Given the description of an element on the screen output the (x, y) to click on. 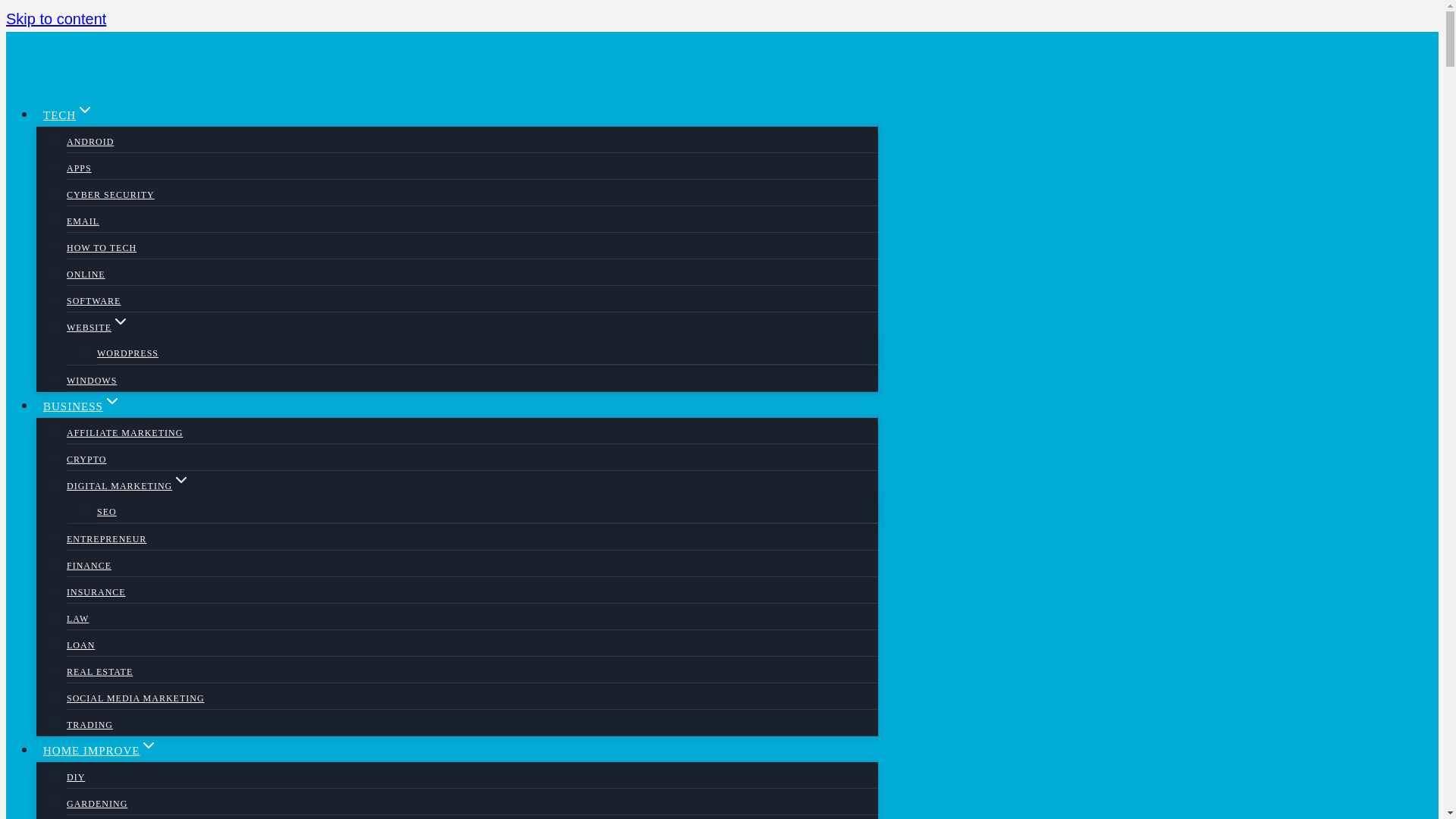
ANDROID (89, 141)
INSURANCE (95, 592)
WORDPRESS (127, 353)
ONLINE (85, 274)
DIGITAL MARKETINGEXPAND (128, 485)
HOW TO TECH (101, 247)
SOFTWARE (93, 300)
ENTREPRENEUR (106, 538)
WINDOWS (91, 380)
WEBSITEEXPAND (97, 327)
BUSINESSEXPAND (82, 406)
EXPAND (148, 745)
TRADING (89, 724)
SOCIAL MEDIA MARKETING (135, 697)
EXPAND (120, 321)
